Given the description of an element on the screen output the (x, y) to click on. 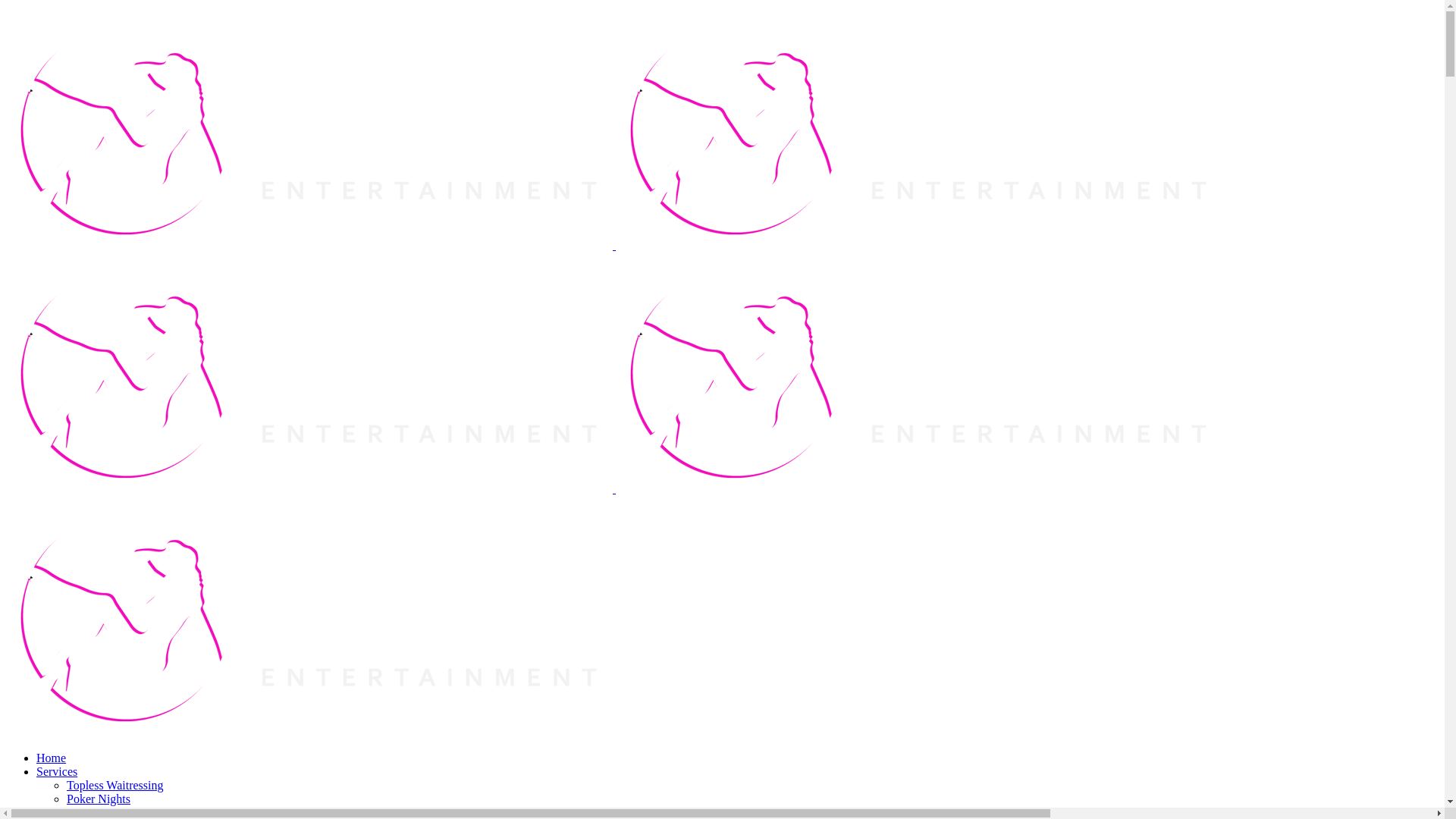
Services Element type: text (56, 771)
Topless Waitressing Element type: text (114, 784)
Home Element type: text (50, 757)
Poker Nights Element type: text (98, 798)
